Given the description of an element on the screen output the (x, y) to click on. 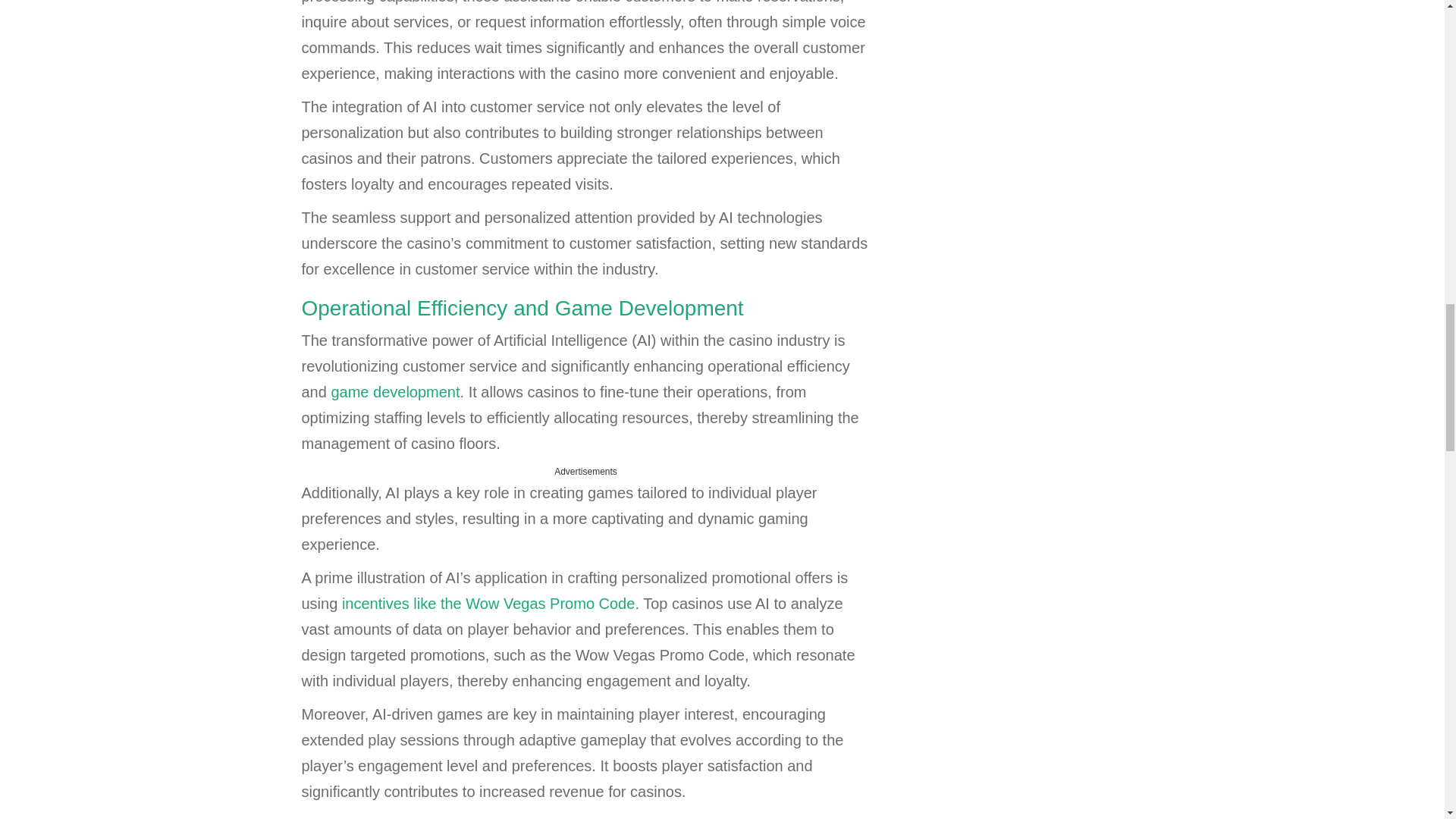
incentives like the Wow Vegas Promo Code (488, 603)
game development (395, 392)
